Given the description of an element on the screen output the (x, y) to click on. 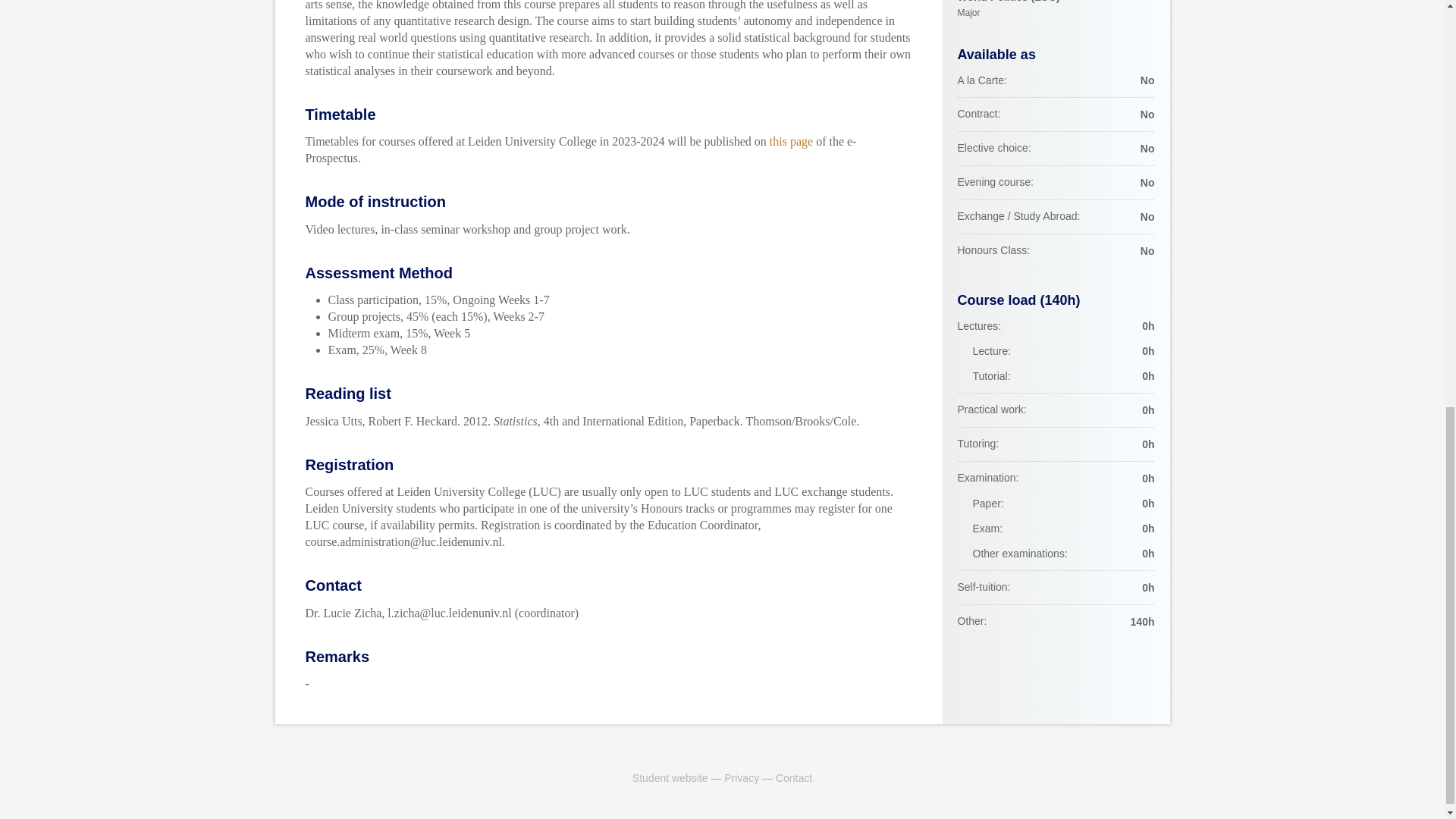
Privacy (740, 777)
this page (791, 141)
Contact (794, 777)
Student website (669, 777)
